Given the description of an element on the screen output the (x, y) to click on. 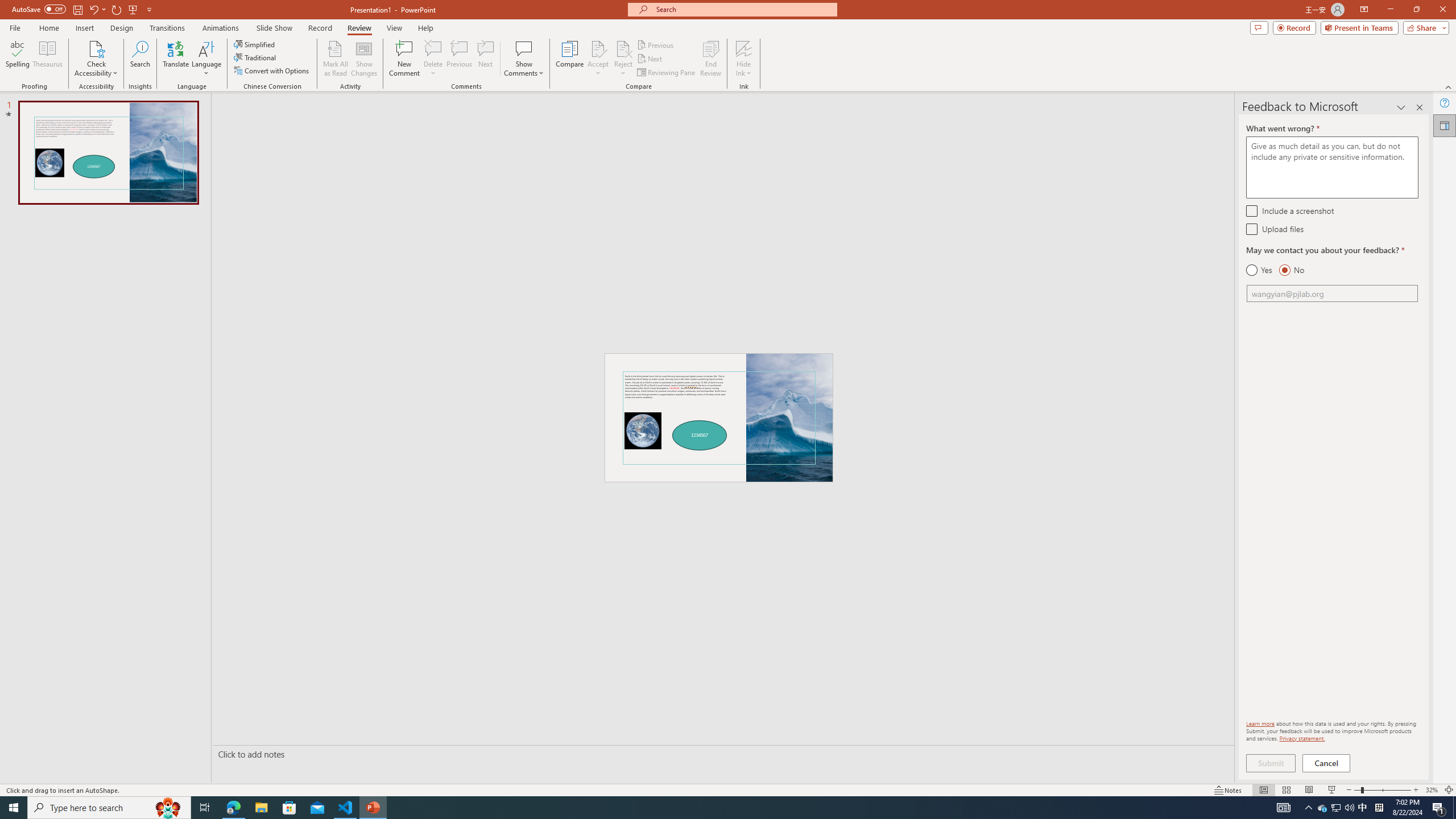
Zoom 32% (1431, 790)
Translate (175, 58)
